Given the description of an element on the screen output the (x, y) to click on. 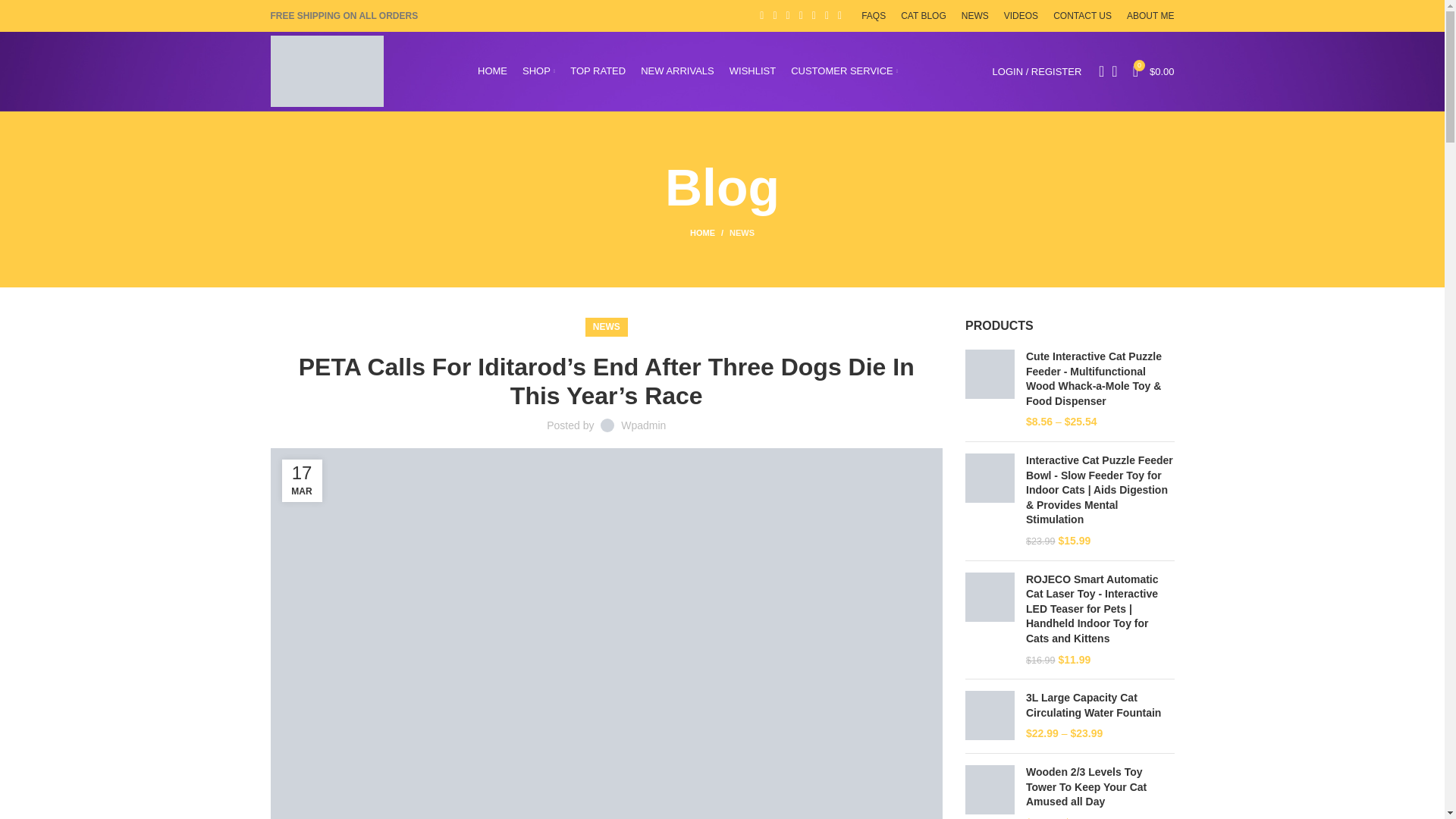
NEW ARRIVALS (677, 71)
My account (1037, 71)
CAT BLOG (923, 15)
HOME (491, 71)
NEWS (974, 15)
ABOUT ME (1149, 15)
VIDEOS (1021, 15)
Shopping cart (1153, 71)
WISHLIST (752, 71)
SHOP (538, 71)
